Given the description of an element on the screen output the (x, y) to click on. 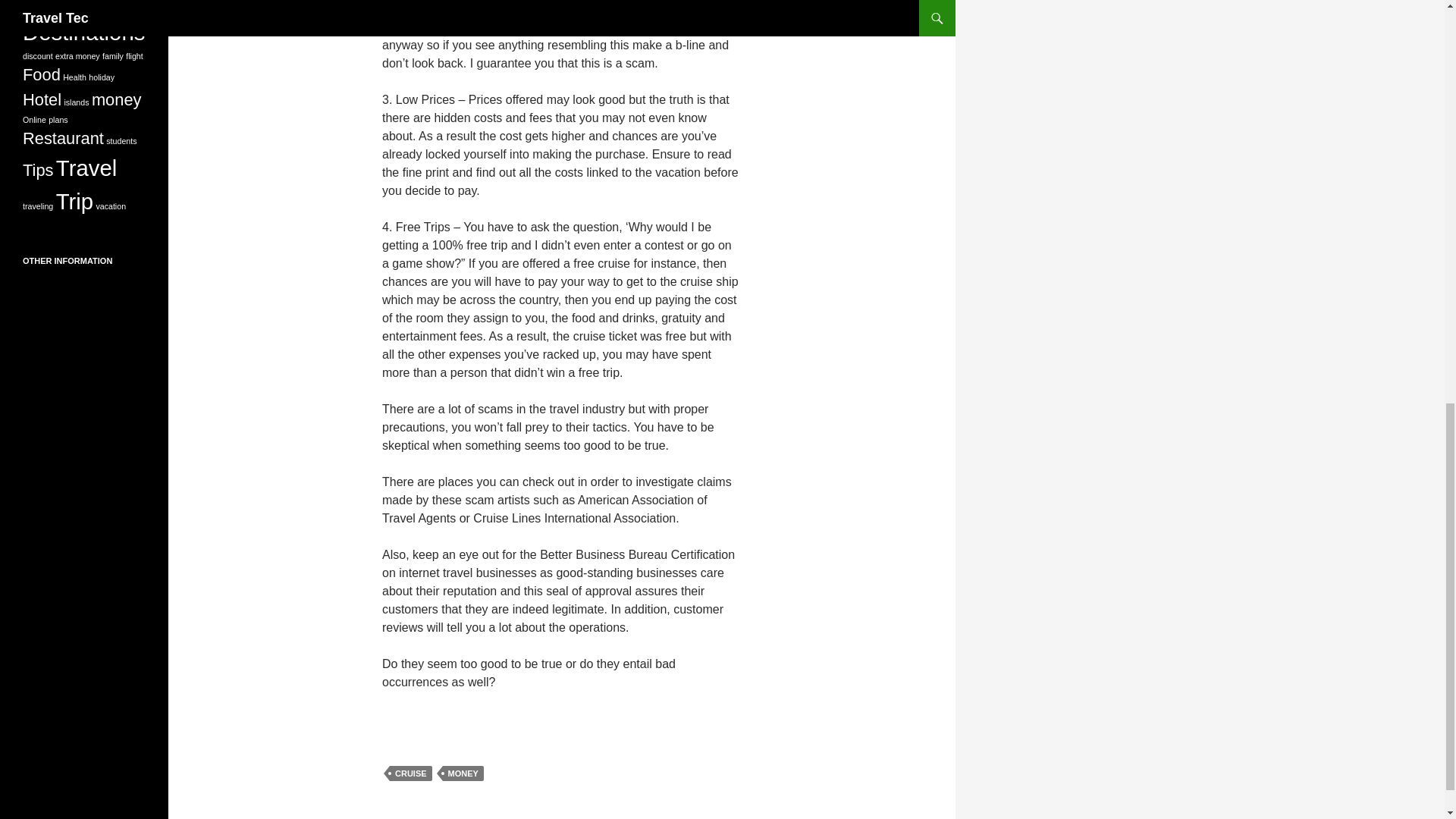
CRUISE (411, 773)
MONEY (462, 773)
